Given the description of an element on the screen output the (x, y) to click on. 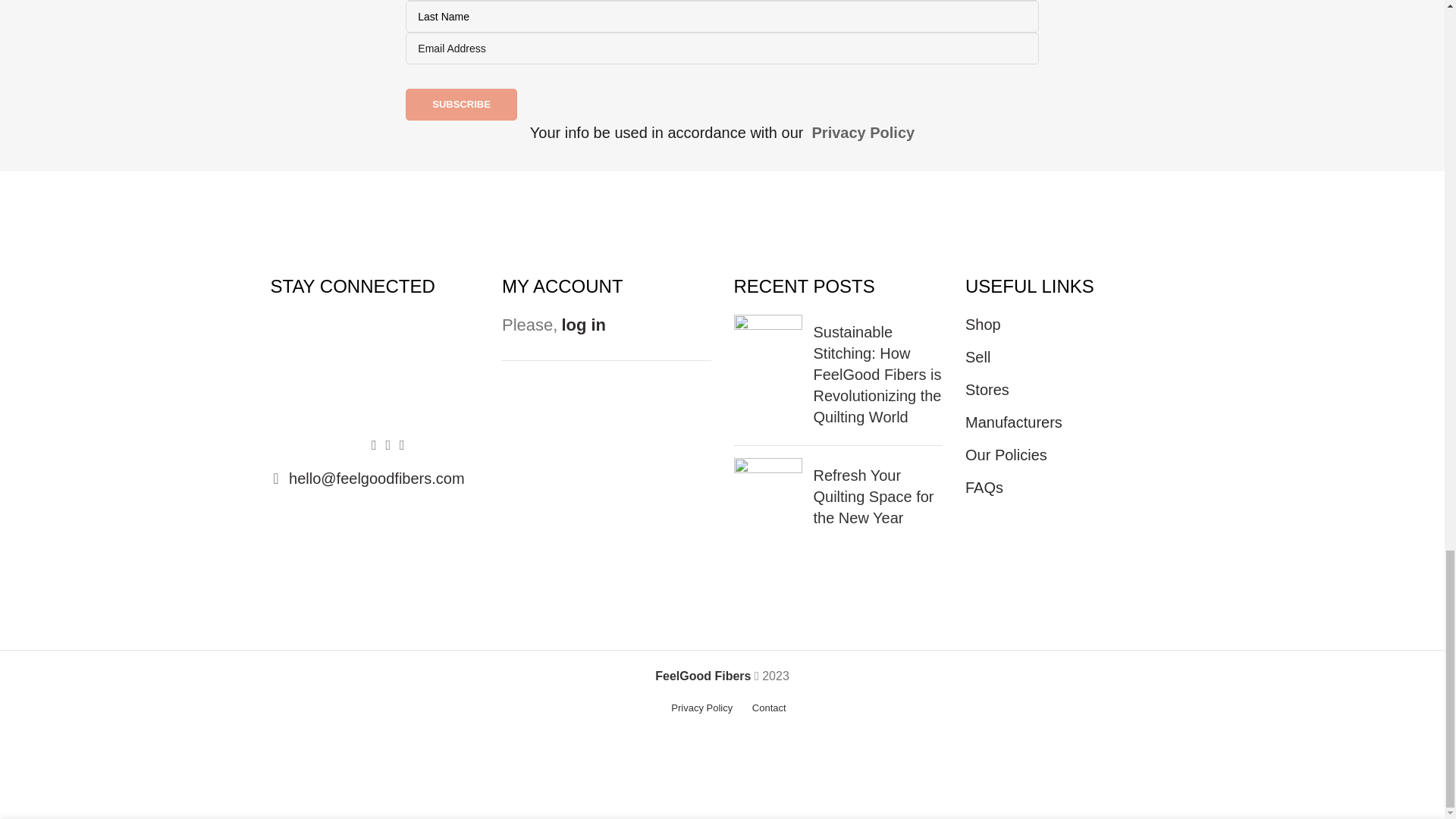
Subscribe (461, 104)
Permalink to Refresh Your Quilting Space for the New Year (872, 496)
